Given the description of an element on the screen output the (x, y) to click on. 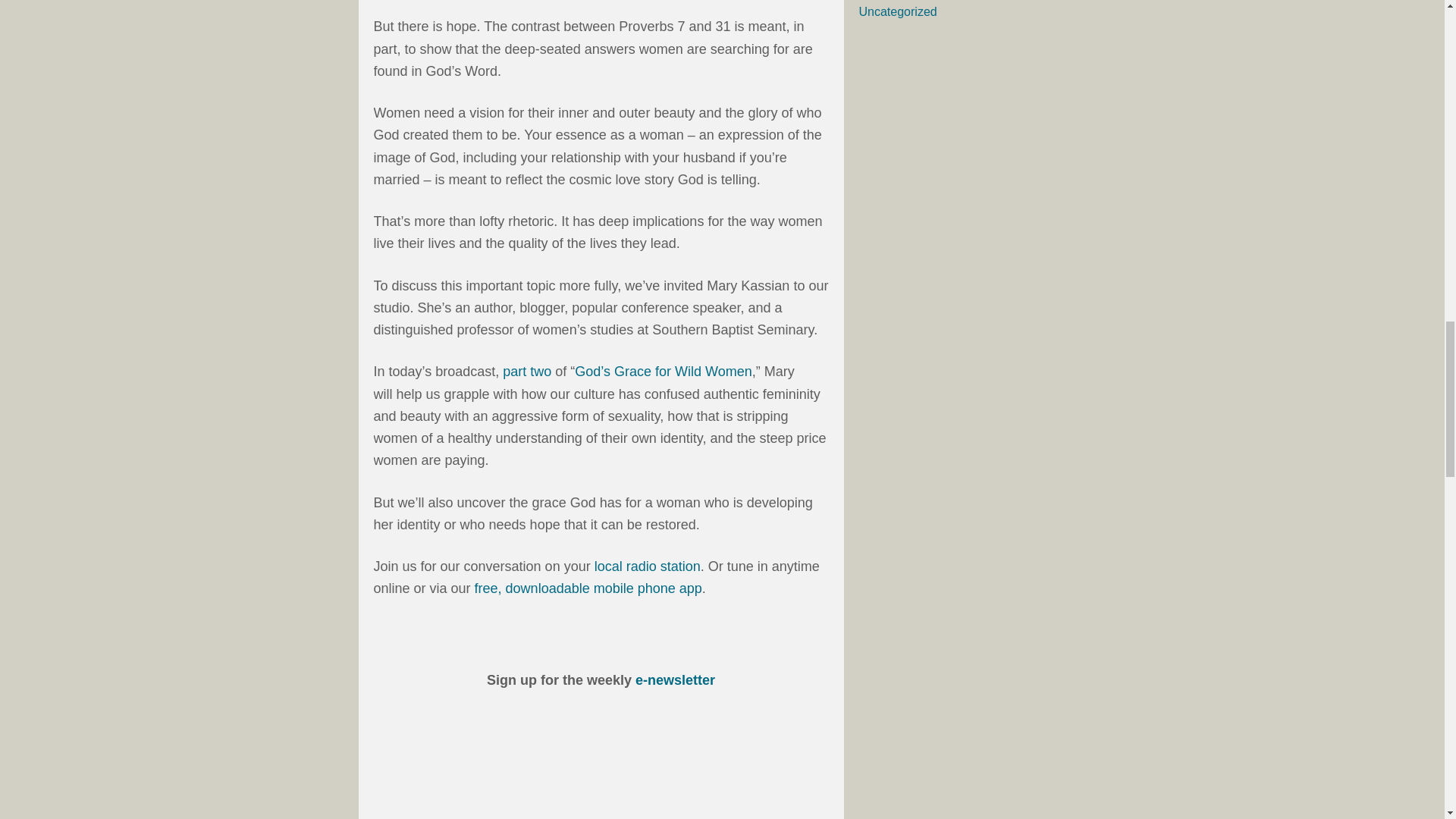
part two (526, 371)
e-newsletter (674, 679)
local radio station (647, 566)
free, downloadable mobile phone app (587, 588)
